Given the description of an element on the screen output the (x, y) to click on. 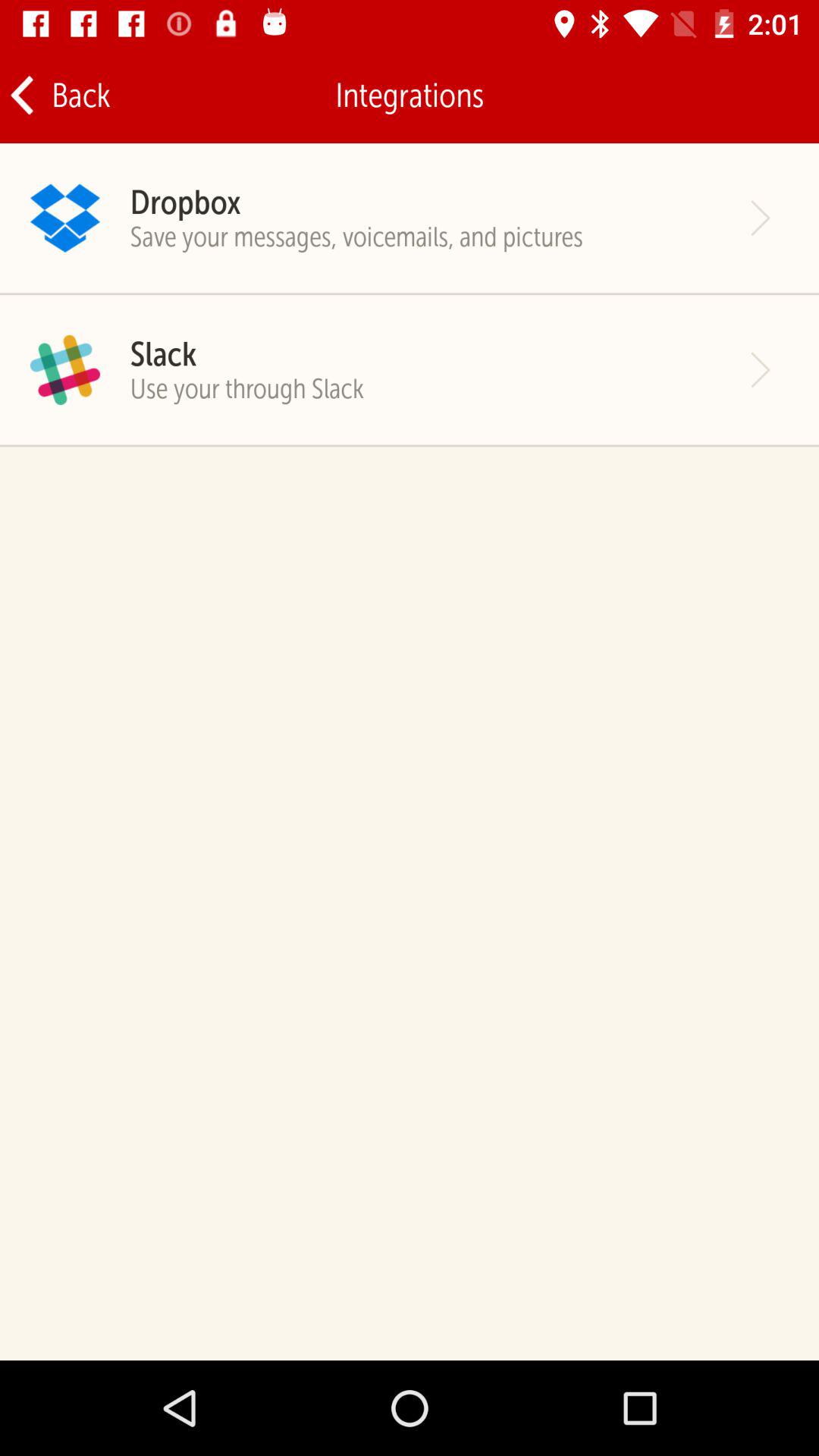
open icon above the slack (356, 236)
